Given the description of an element on the screen output the (x, y) to click on. 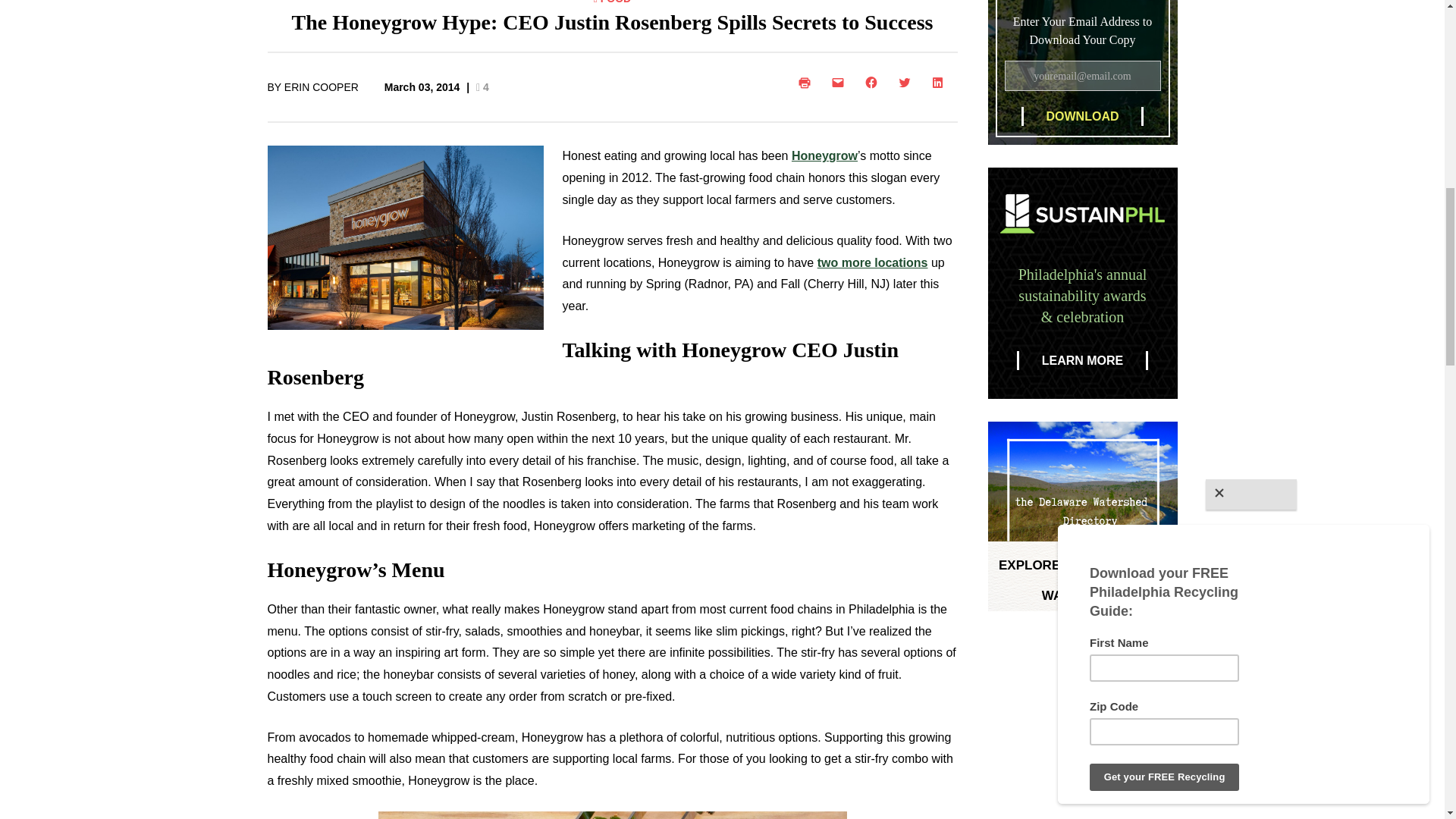
Click to print (807, 82)
download (1081, 116)
Click to share on Facebook (873, 82)
Click to email a link to a friend (840, 82)
Click to share on LinkedIn (939, 82)
honeygrow-restaurant-philadelphia (404, 237)
Click to share on Twitter (906, 82)
